Given the description of an element on the screen output the (x, y) to click on. 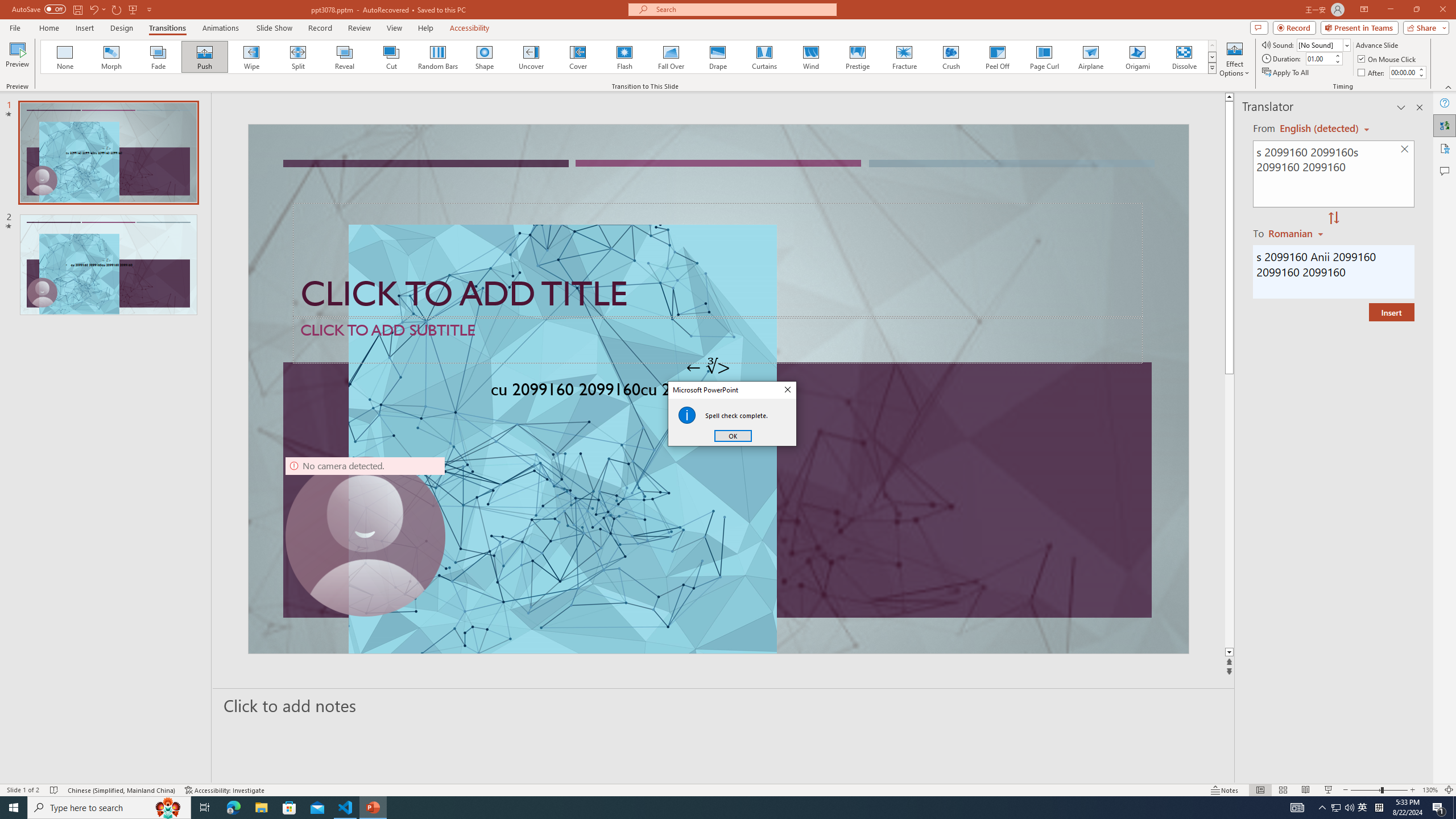
Duration (1319, 58)
Flash (624, 56)
Sound (1324, 44)
Dissolve (1183, 56)
